Given the description of an element on the screen output the (x, y) to click on. 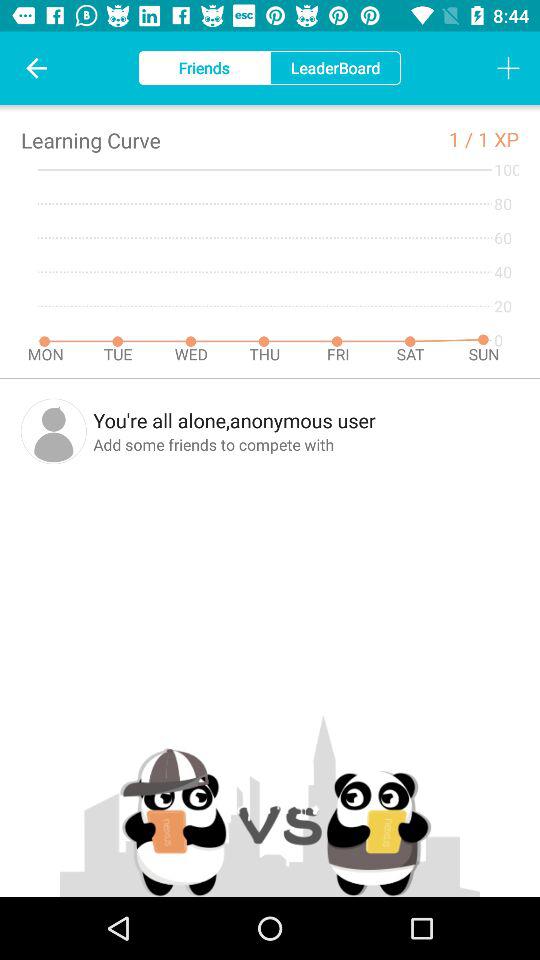
click the add some friends icon (306, 444)
